Given the description of an element on the screen output the (x, y) to click on. 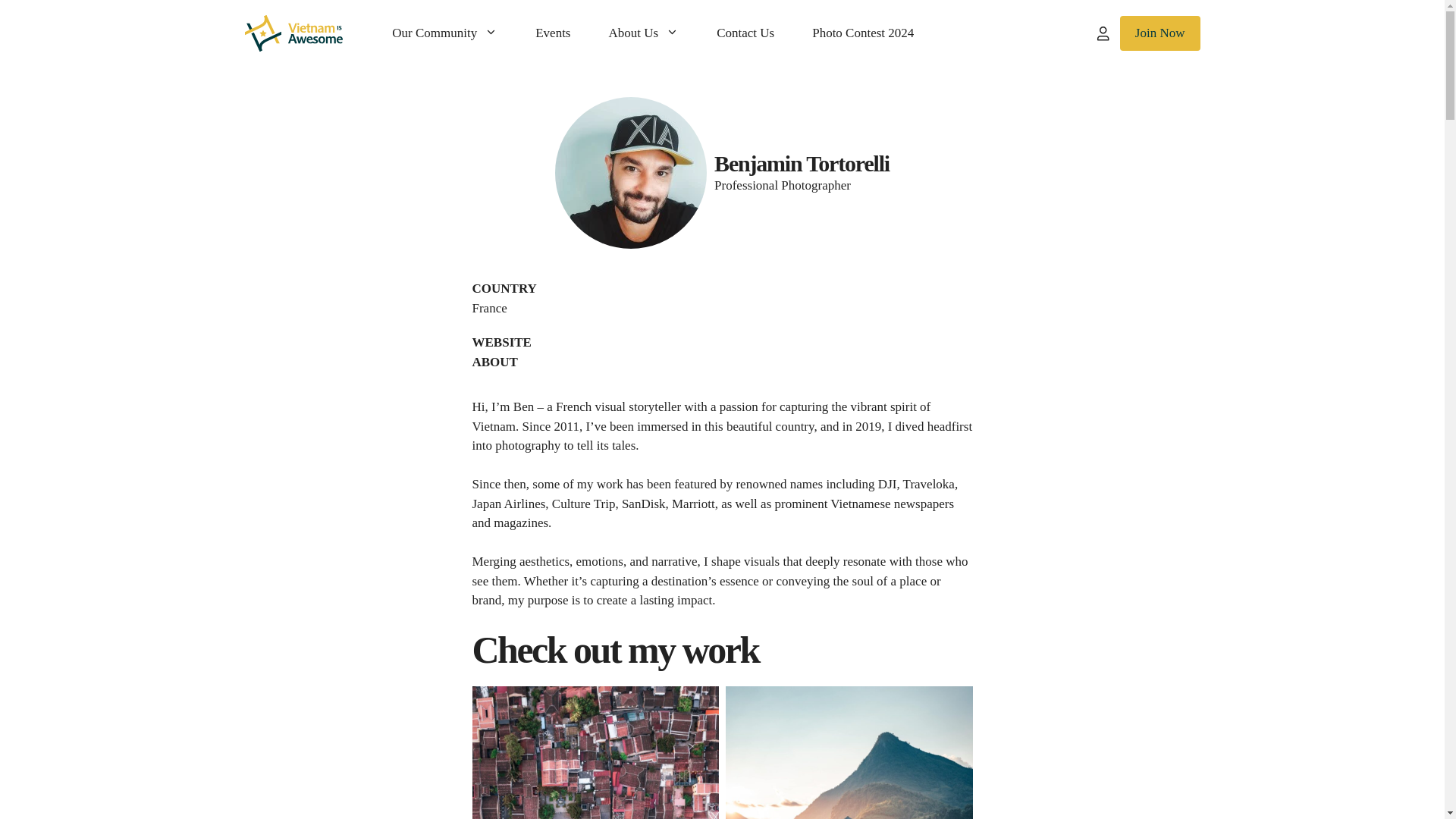
About Us (643, 33)
Events (552, 33)
Our Community (444, 33)
Join Now (1159, 32)
Benjamin Tortorelli 1 (595, 752)
Photo Contest 2024 (863, 33)
Contact Us (745, 33)
Benjamin Tortorelli 2 (848, 752)
